Given the description of an element on the screen output the (x, y) to click on. 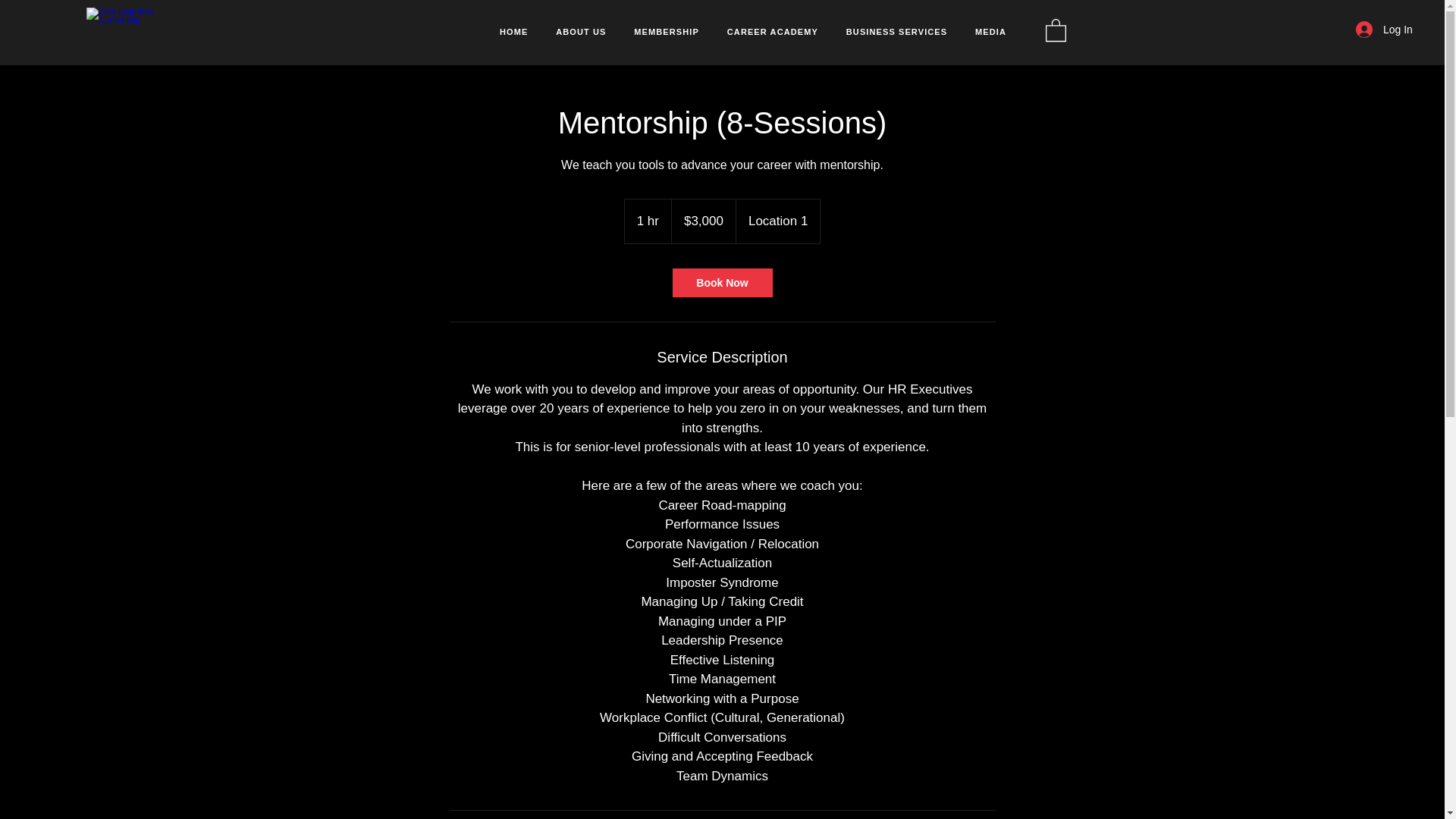
Log In (1369, 29)
Book Now (721, 282)
HOME (513, 31)
